Given the description of an element on the screen output the (x, y) to click on. 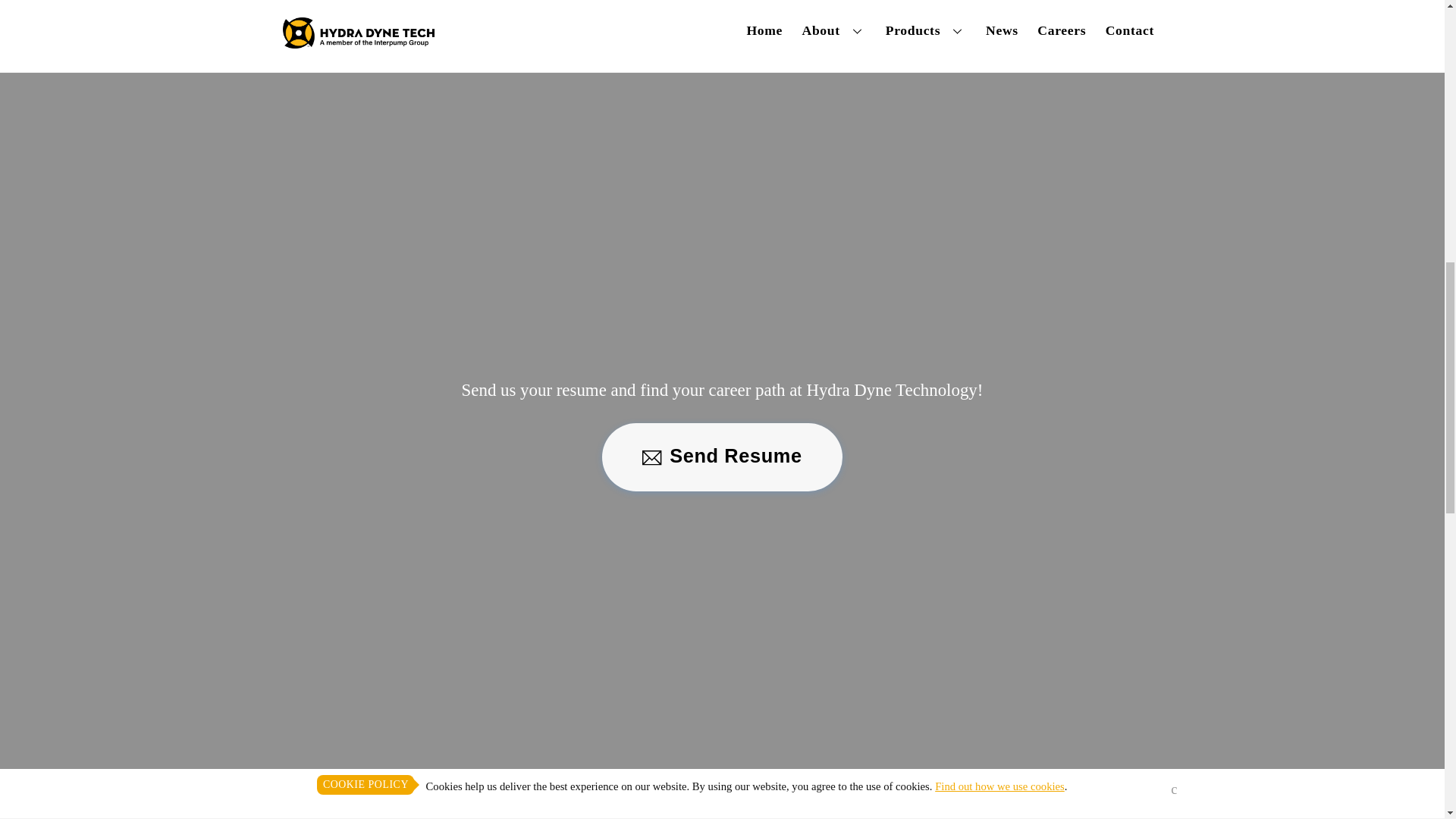
Send Resume (722, 457)
